Given the description of an element on the screen output the (x, y) to click on. 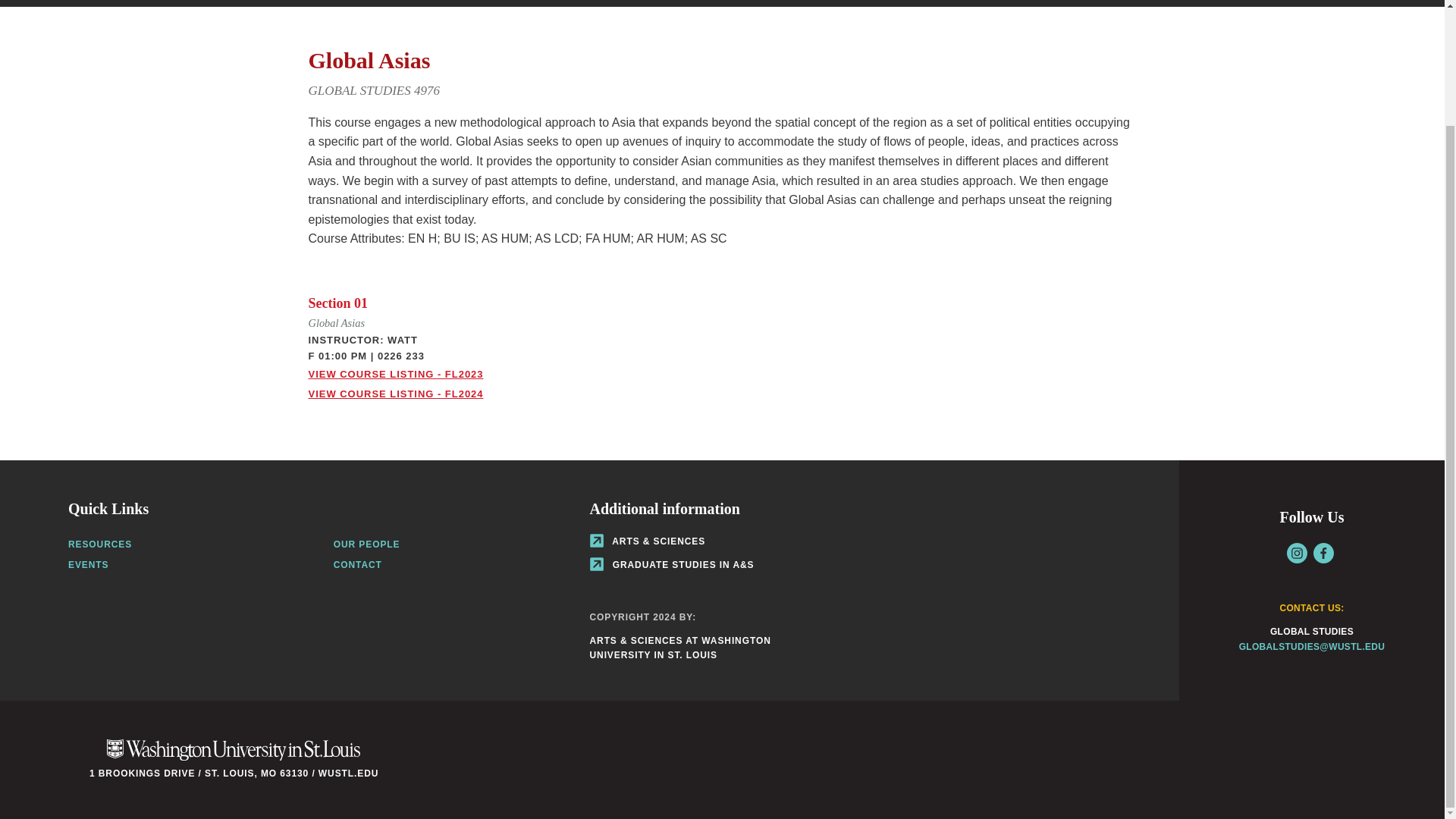
Facebook (1323, 552)
RESOURCES (100, 543)
VIEW COURSE LISTING - FL2024 (395, 393)
EVENTS (87, 564)
VIEW COURSE LISTING - FL2023 (395, 374)
Instagram (1297, 552)
CONTACT (357, 564)
OUR PEOPLE (366, 543)
